Given the description of an element on the screen output the (x, y) to click on. 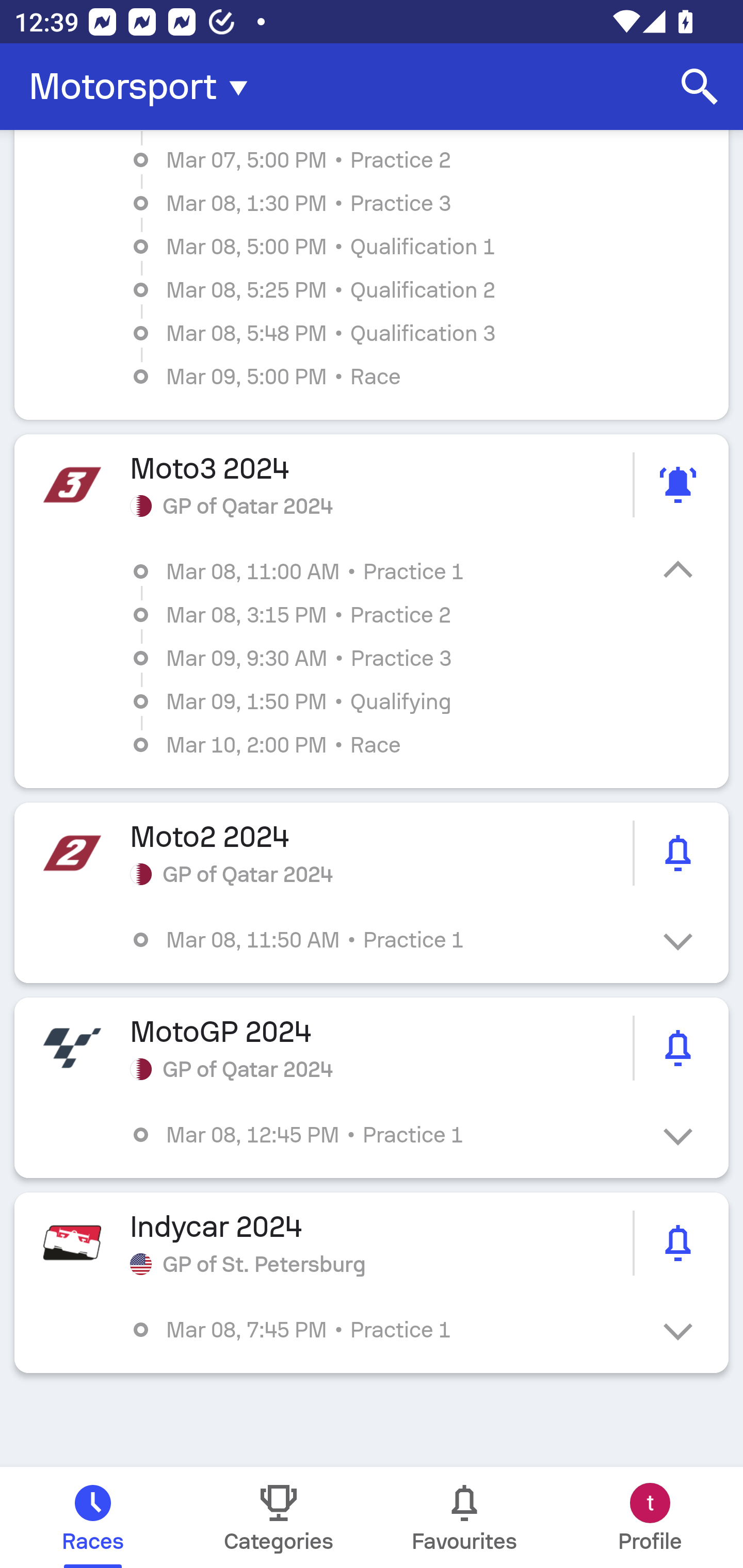
Motorsport (144, 86)
Search (699, 86)
Mar 08, 11:50 AM • Practice 1 (385, 939)
Mar 08, 12:45 PM • Practice 1 (385, 1134)
Mar 08, 7:45 PM • Practice 1 (385, 1329)
Categories (278, 1517)
Favourites (464, 1517)
Profile (650, 1517)
